Given the description of an element on the screen output the (x, y) to click on. 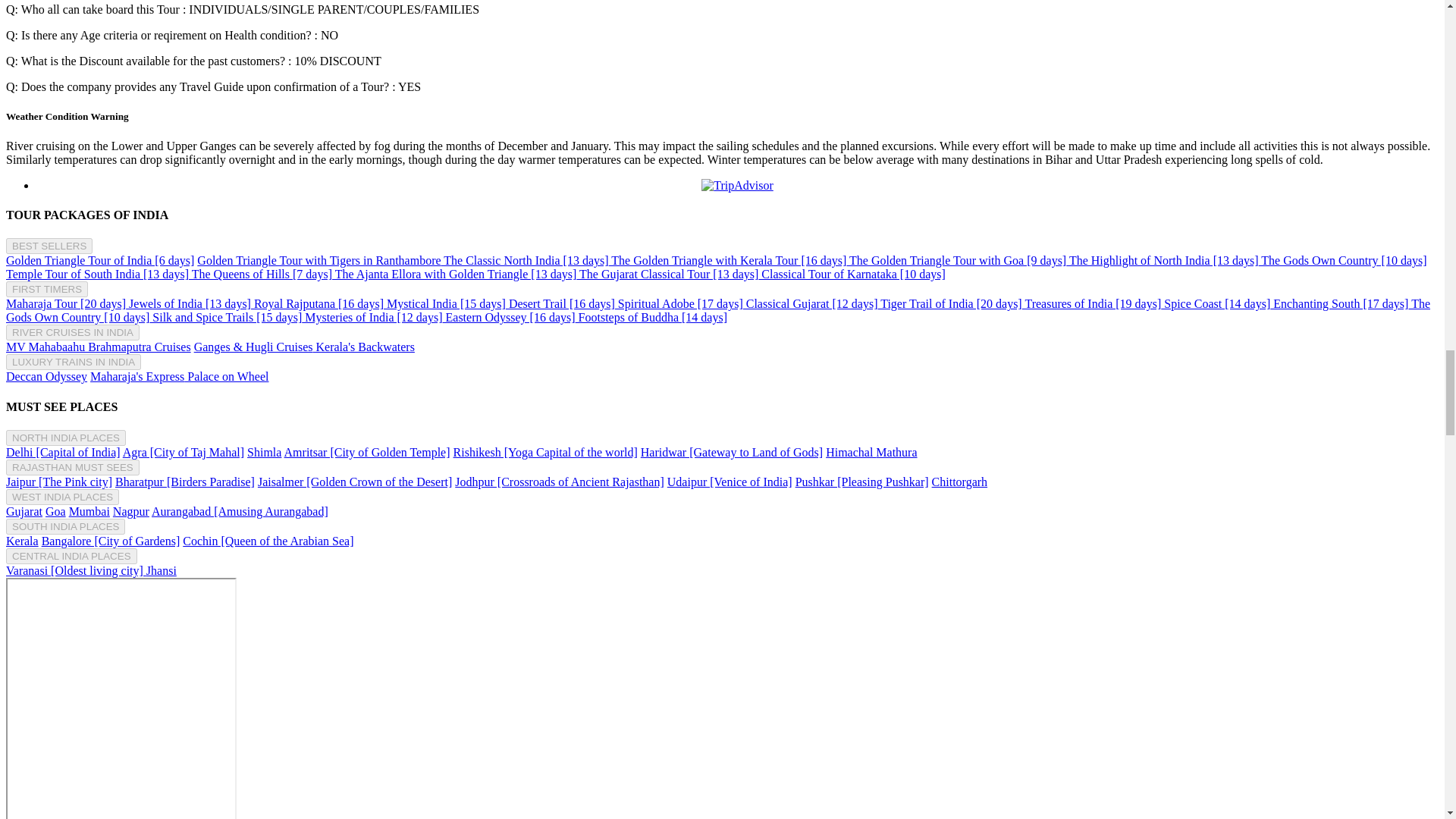
form (120, 698)
